Given the description of an element on the screen output the (x, y) to click on. 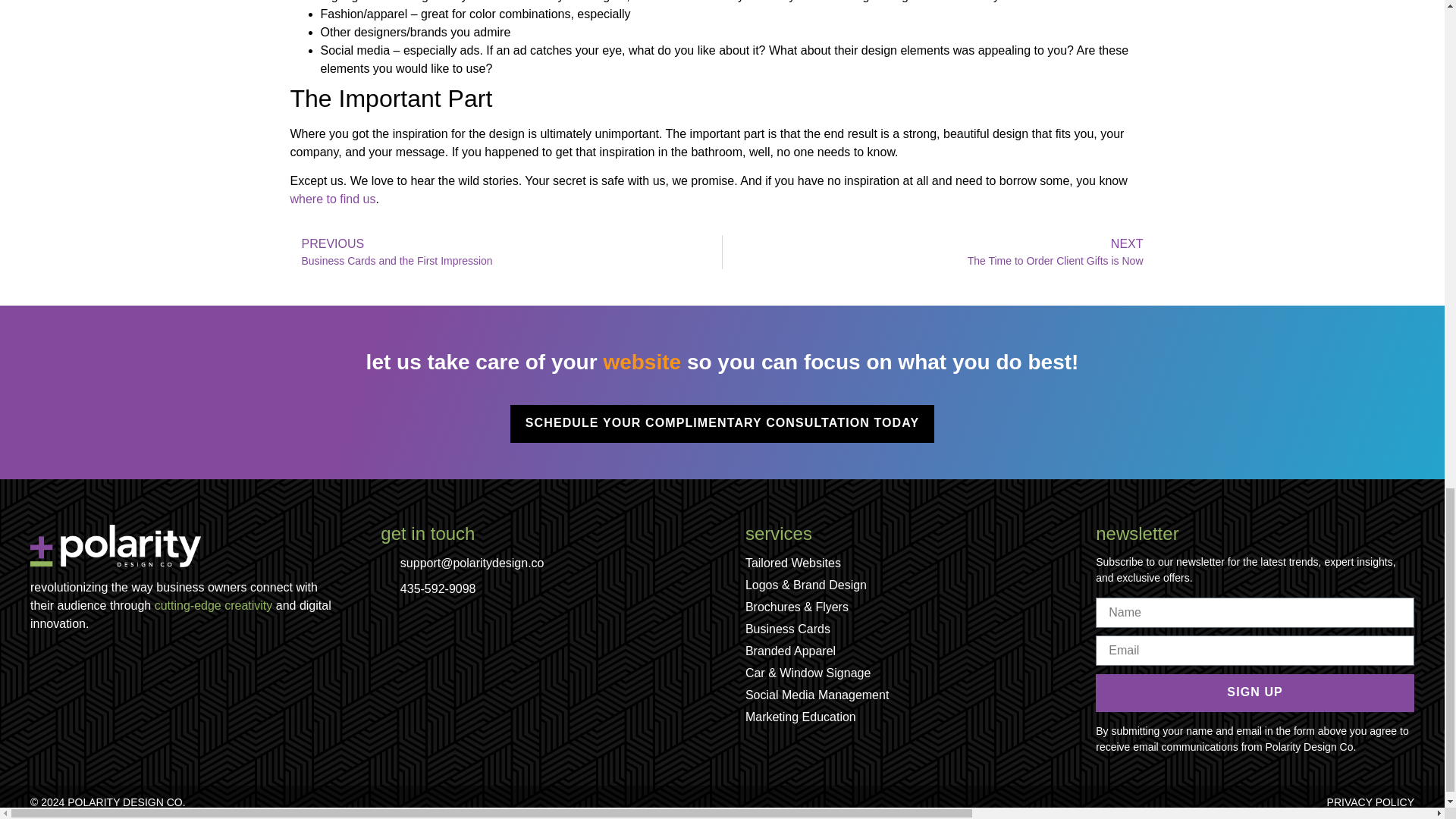
where to find us (505, 252)
SCHEDULE YOUR COMPLIMENTARY CONSULTATION TODAY (332, 198)
435-592-9098 (938, 252)
